Given the description of an element on the screen output the (x, y) to click on. 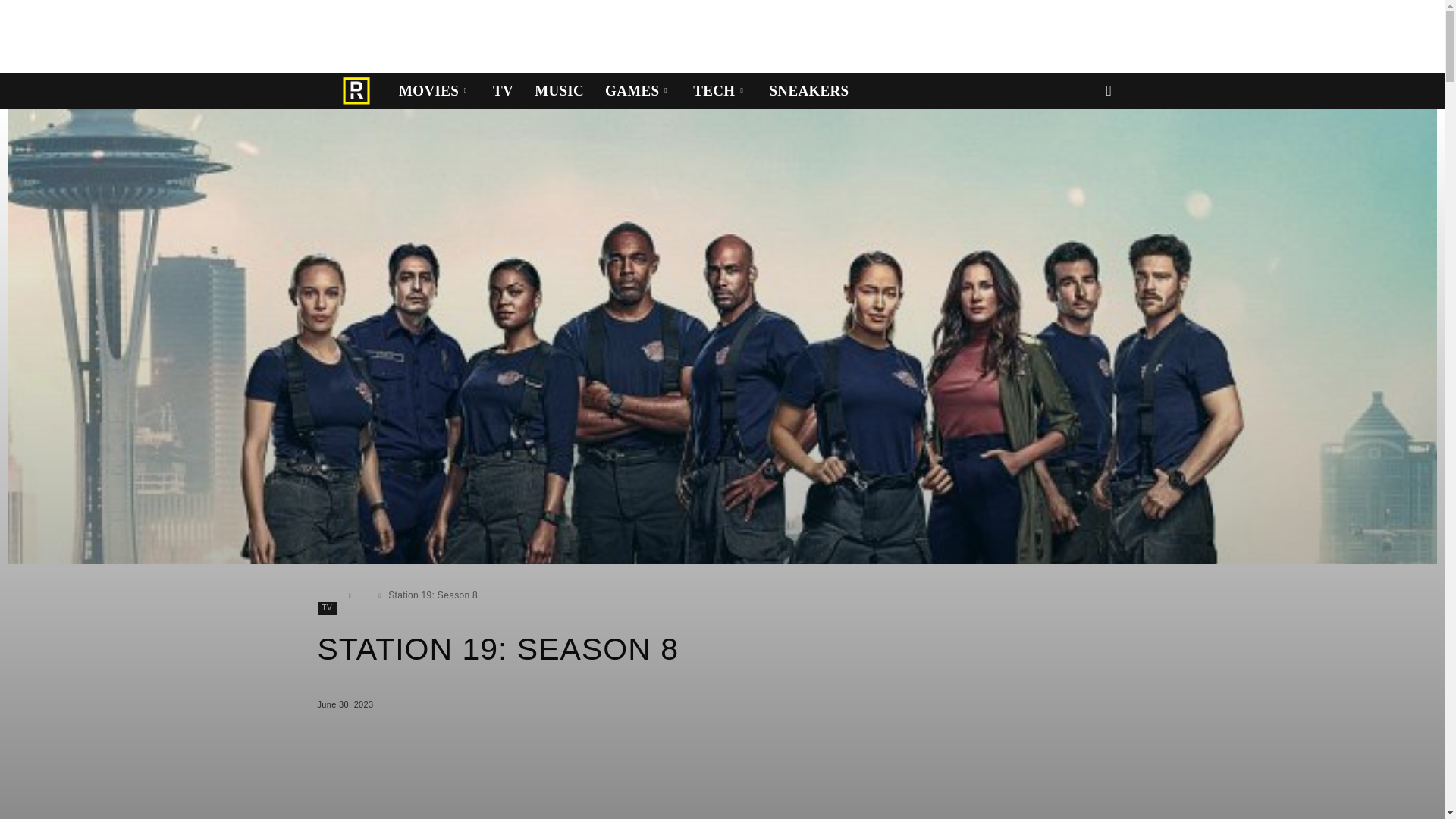
MUSIC (559, 90)
Release Details (356, 90)
GAMES (638, 90)
MOVIES (434, 90)
TV (502, 90)
Advertisement (275, 33)
TECH (720, 90)
